Given the description of an element on the screen output the (x, y) to click on. 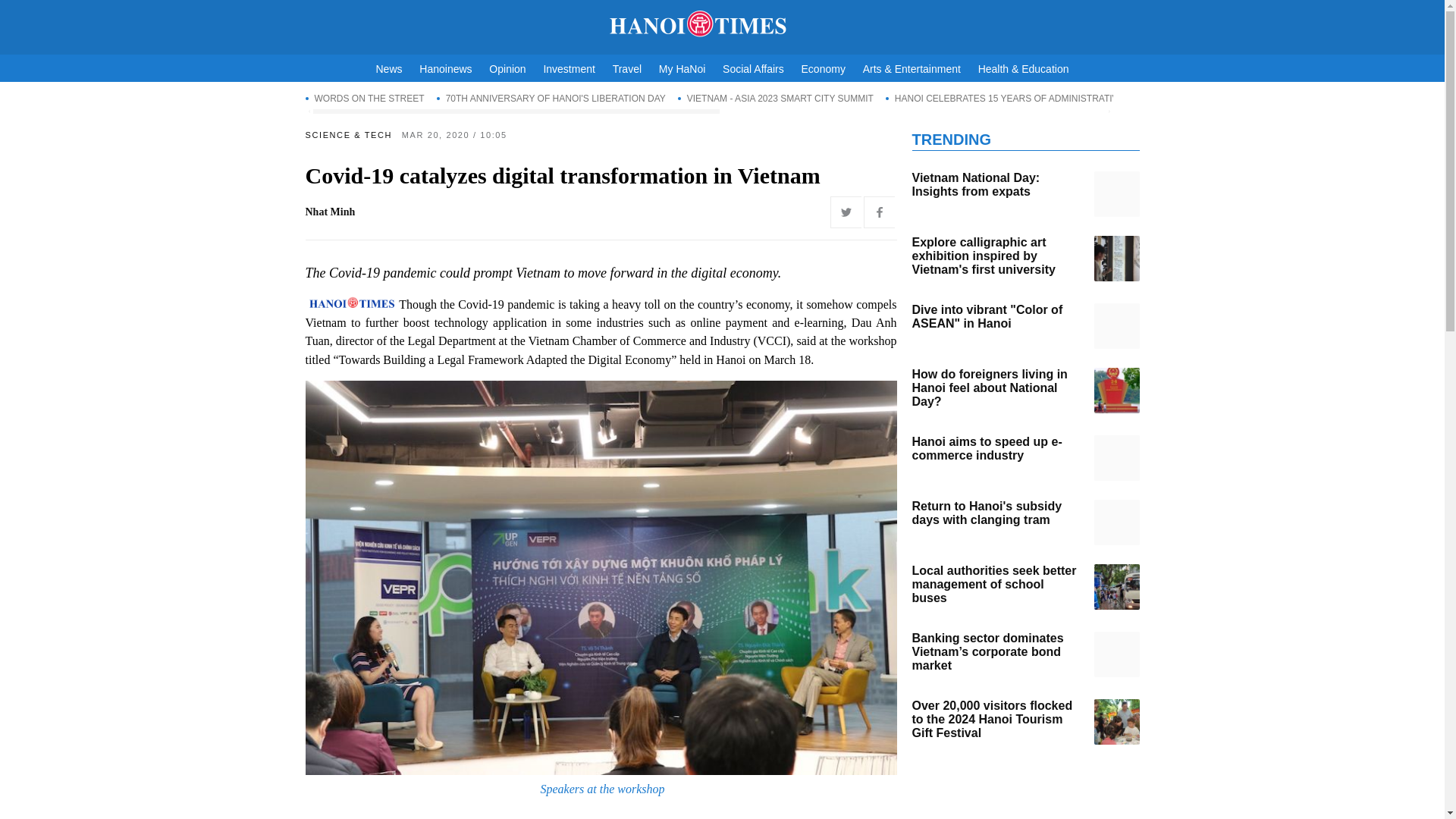
News (389, 69)
Hanoinews (445, 69)
70th anniversary of Hanoi's Liberation Day (550, 98)
My HaNoi (681, 69)
Travel (627, 69)
Hanoi Times (721, 24)
Vietnam - Asia 2023 Smart City Summit  (775, 98)
